Given the description of an element on the screen output the (x, y) to click on. 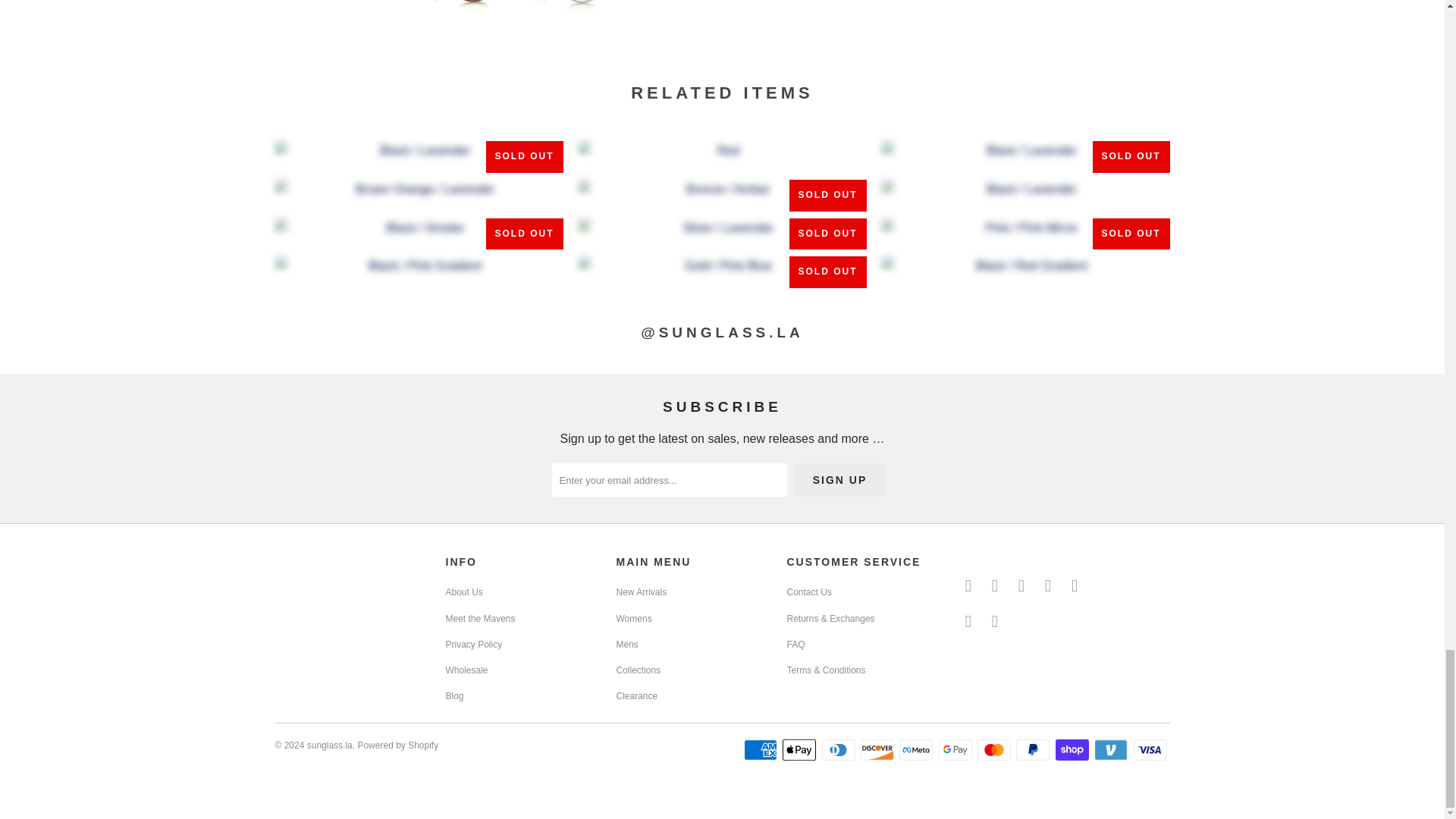
Apple Pay (800, 749)
PayPal (1034, 749)
Google Pay (957, 749)
American Express (762, 749)
Sign Up (839, 479)
Shop Pay (1073, 749)
Diners Club (840, 749)
Visa (1150, 749)
Meta Pay (917, 749)
Discover (878, 749)
